Given the description of an element on the screen output the (x, y) to click on. 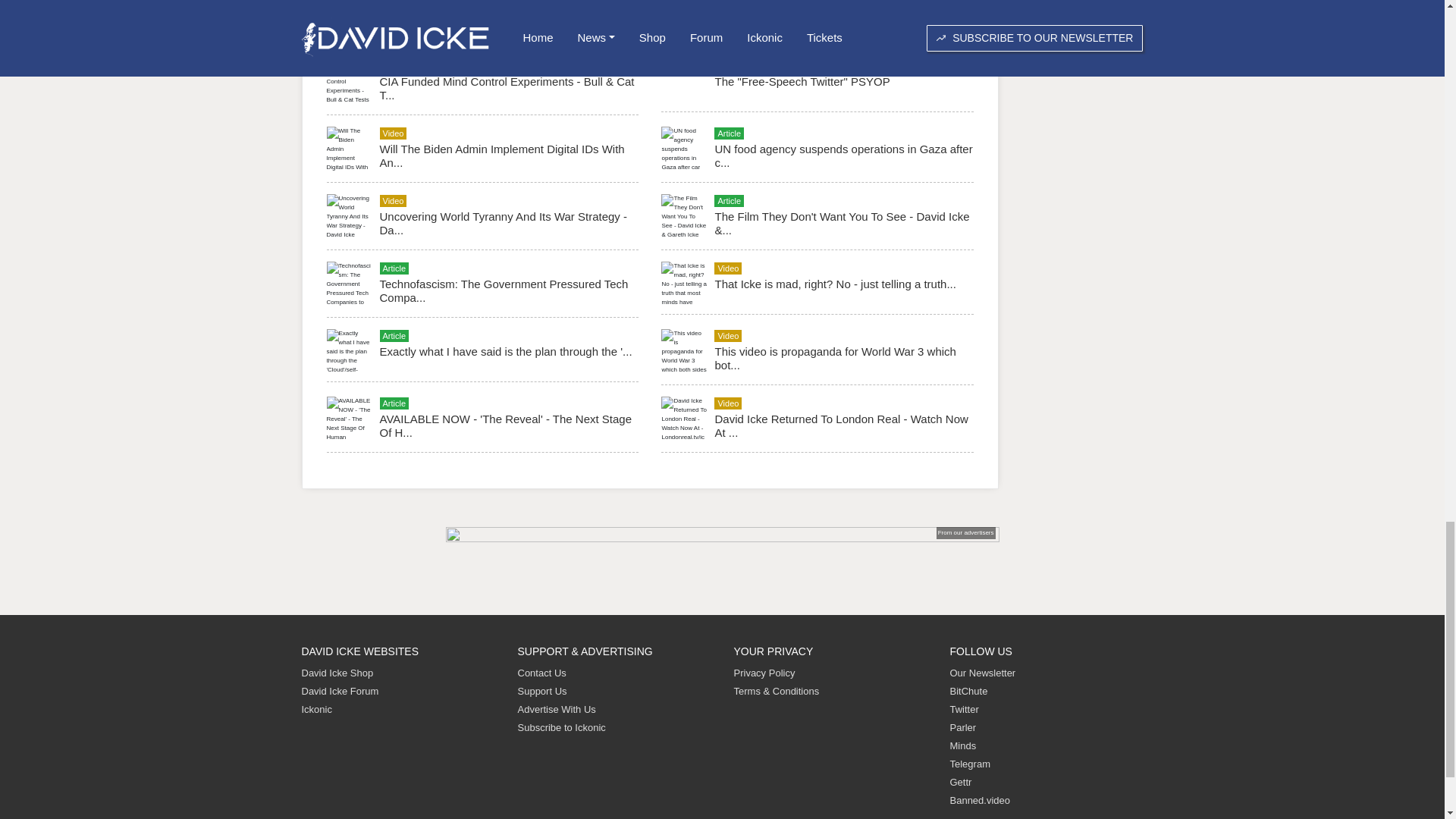
The  (801, 81)
